Given the description of an element on the screen output the (x, y) to click on. 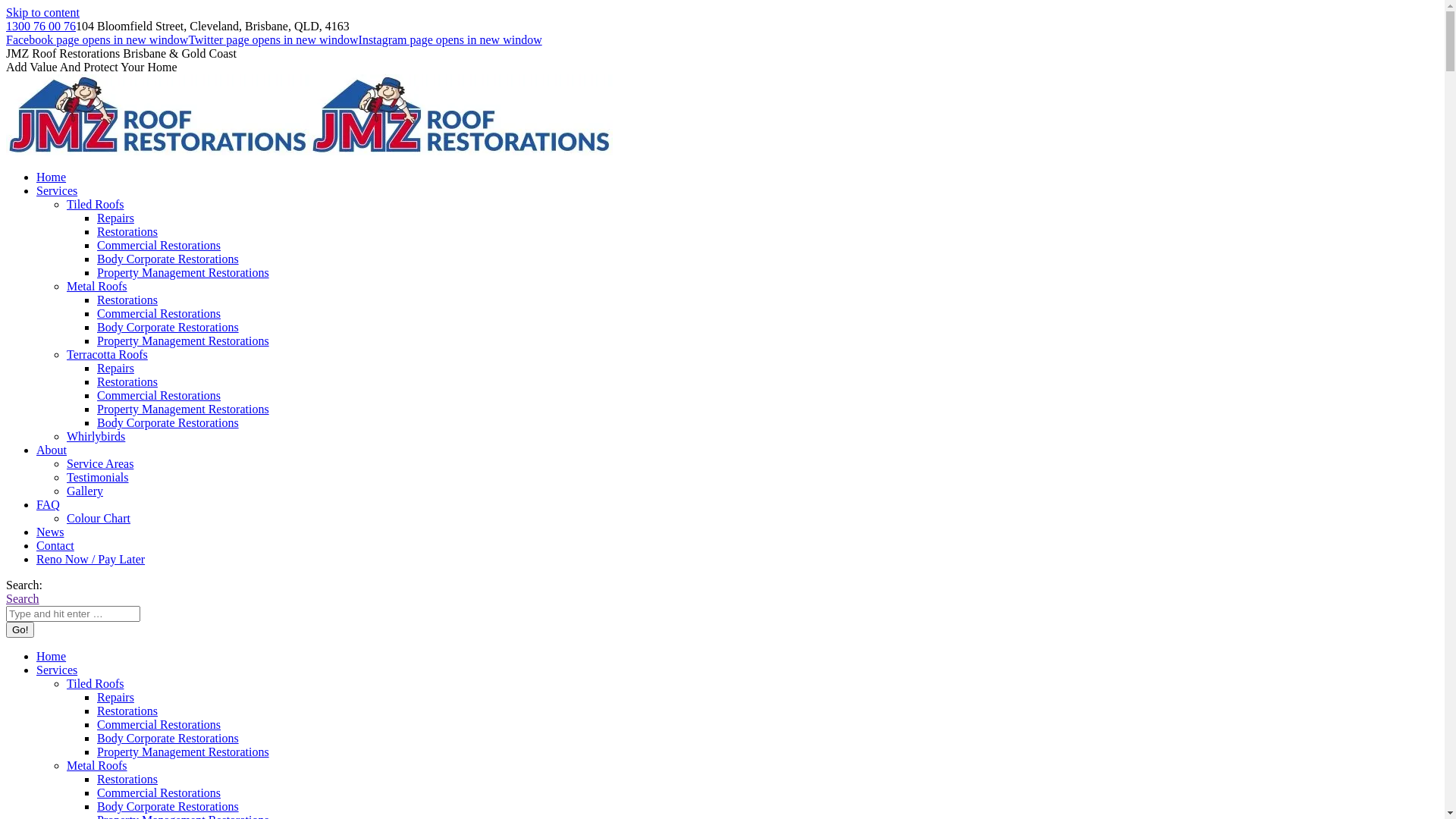
Repairs Element type: text (115, 696)
Commercial Restorations Element type: text (158, 792)
Service Areas Element type: text (99, 463)
Body Corporate Restorations Element type: text (167, 422)
Property Management Restorations Element type: text (183, 751)
Reno Now / Pay Later Element type: text (90, 558)
1300 76 00 76 Element type: text (40, 25)
Commercial Restorations Element type: text (158, 244)
Facebook page opens in new window Element type: text (97, 39)
Body Corporate Restorations Element type: text (167, 258)
Body Corporate Restorations Element type: text (167, 737)
Commercial Restorations Element type: text (158, 313)
Property Management Restorations Element type: text (183, 408)
Skip to content Element type: text (42, 12)
Home Element type: text (50, 176)
Restorations Element type: text (127, 381)
Body Corporate Restorations Element type: text (167, 326)
Colour Chart Element type: text (98, 517)
Commercial Restorations Element type: text (158, 395)
Whirlybirds Element type: text (95, 435)
Search Element type: text (22, 598)
Gallery Element type: text (84, 490)
Tiled Roofs Element type: text (94, 203)
Home Element type: text (50, 655)
Terracotta Roofs Element type: text (106, 354)
Restorations Element type: text (127, 778)
Repairs Element type: text (115, 367)
About Element type: text (51, 449)
FAQ Element type: text (47, 504)
Body Corporate Restorations Element type: text (167, 806)
Twitter page opens in new window Element type: text (272, 39)
Contact Element type: text (55, 545)
Property Management Restorations Element type: text (183, 272)
Commercial Restorations Element type: text (158, 724)
Services Element type: text (56, 669)
Property Management Restorations Element type: text (183, 340)
Services Element type: text (56, 190)
Repairs Element type: text (115, 217)
Restorations Element type: text (127, 710)
Metal Roofs Element type: text (96, 285)
Testimonials Element type: text (97, 476)
Restorations Element type: text (127, 299)
Restorations Element type: text (127, 231)
Go! Element type: text (20, 629)
Metal Roofs Element type: text (96, 765)
Tiled Roofs Element type: text (94, 683)
Instagram page opens in new window Element type: text (450, 39)
Search form Element type: hover (73, 613)
News Element type: text (49, 531)
